Given the description of an element on the screen output the (x, y) to click on. 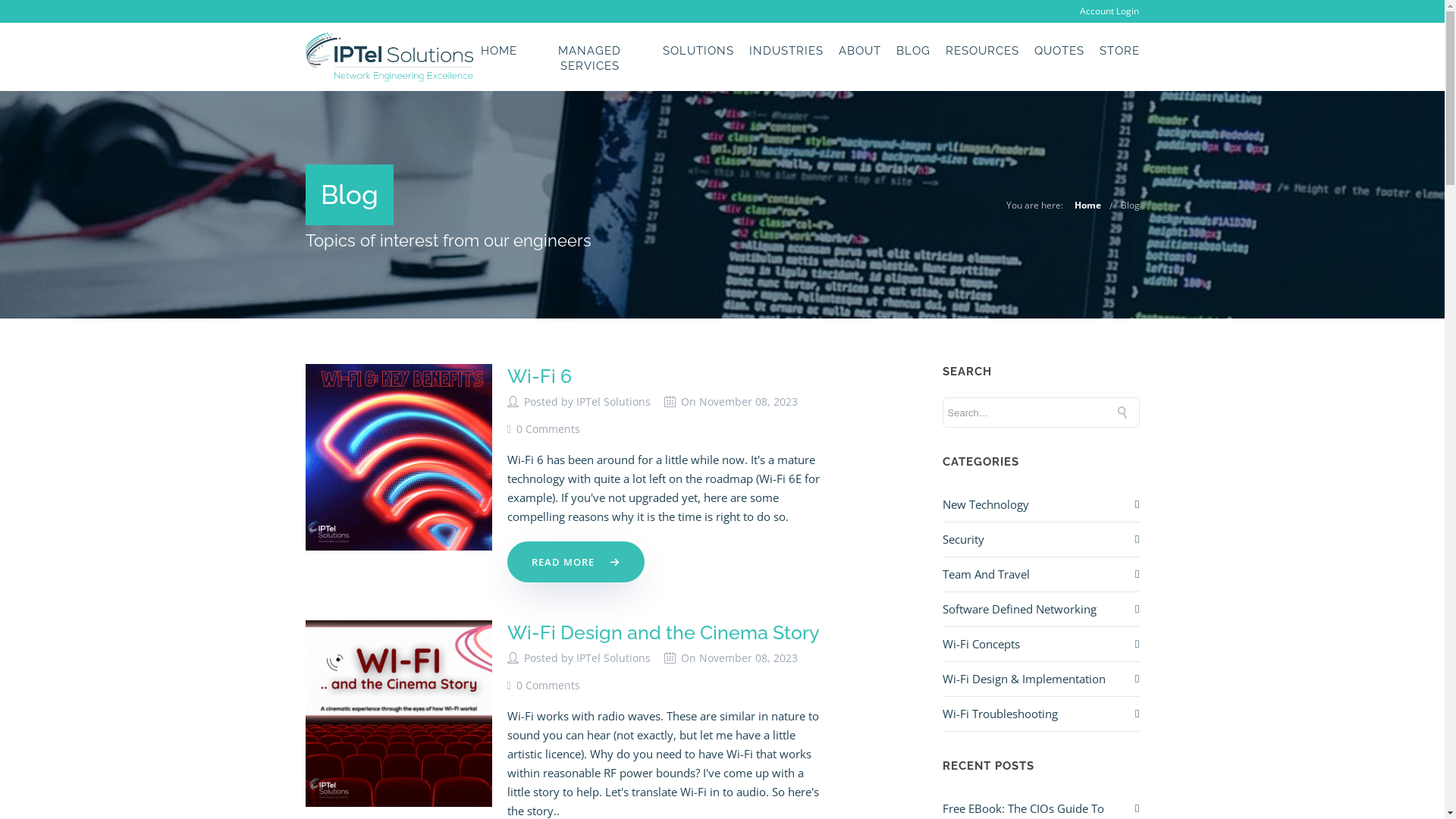
RESOURCES Element type: text (981, 49)
Home Element type: text (1086, 204)
STORE Element type: text (1119, 49)
Wi-Fi Concepts Element type: text (980, 643)
HOME Element type: text (498, 49)
Software Defined Networking Element type: text (1018, 608)
ABOUT Element type: text (859, 49)
Wi-Fi Troubleshooting Element type: text (999, 713)
Wi-Fi Design & Implementation Element type: text (1022, 678)
Wi-Fi Design and the Cinema Story Element type: text (662, 632)
New Technology Element type: text (984, 504)
MANAGED SERVICES Element type: text (589, 57)
BLOG Element type: text (913, 49)
Security Element type: text (962, 539)
INDUSTRIES Element type: text (786, 49)
Wi-Fi 6 Element type: text (538, 375)
QUOTES Element type: text (1059, 49)
READ MORE Element type: text (574, 561)
SOLUTIONS Element type: text (698, 49)
Blog Element type: text (1129, 204)
Team And Travel Element type: text (985, 573)
Account Login Element type: text (1109, 10)
